Given the description of an element on the screen output the (x, y) to click on. 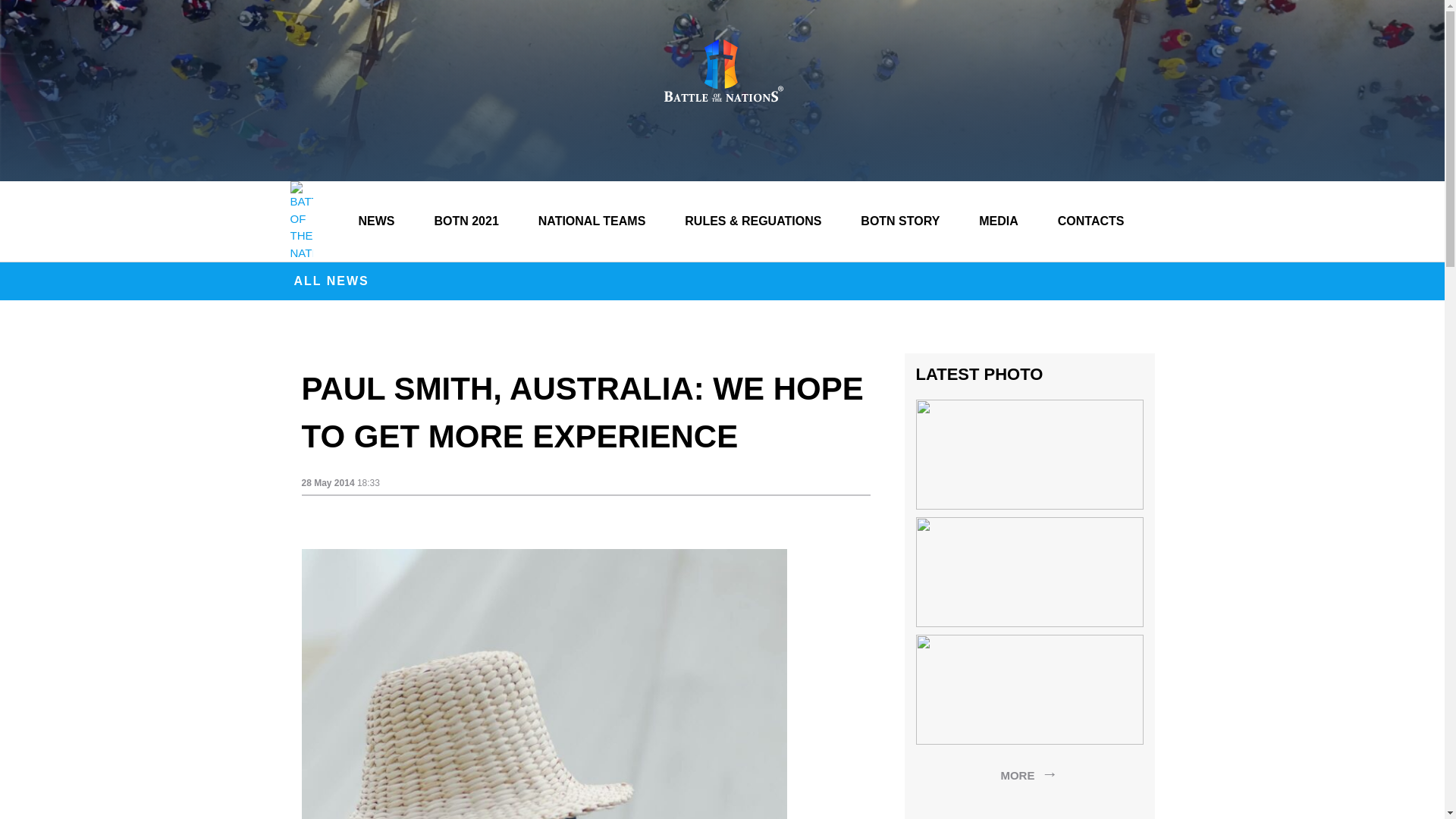
ALL NEWS (328, 280)
BOTN 2021 (465, 221)
NEWS (375, 221)
NATIONAL TEAMS (592, 221)
MEDIA (998, 221)
BOTN STORY (900, 221)
CONTACTS (1090, 221)
